Given the description of an element on the screen output the (x, y) to click on. 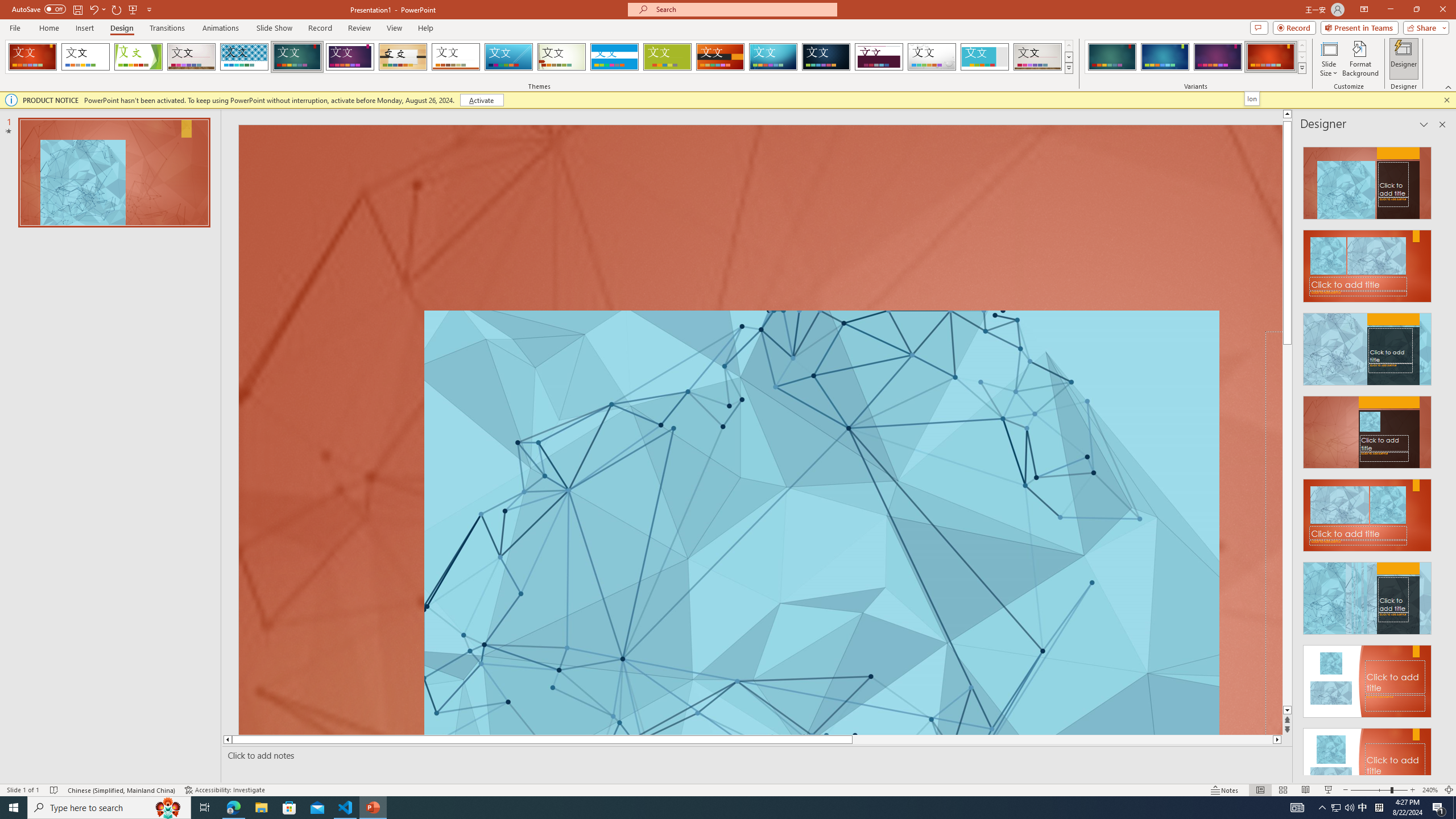
Zoom 240% (1430, 790)
Basis (667, 56)
Ion Variant 2 (1164, 56)
Ion (296, 56)
Ion Variant 3 (1217, 56)
